Given the description of an element on the screen output the (x, y) to click on. 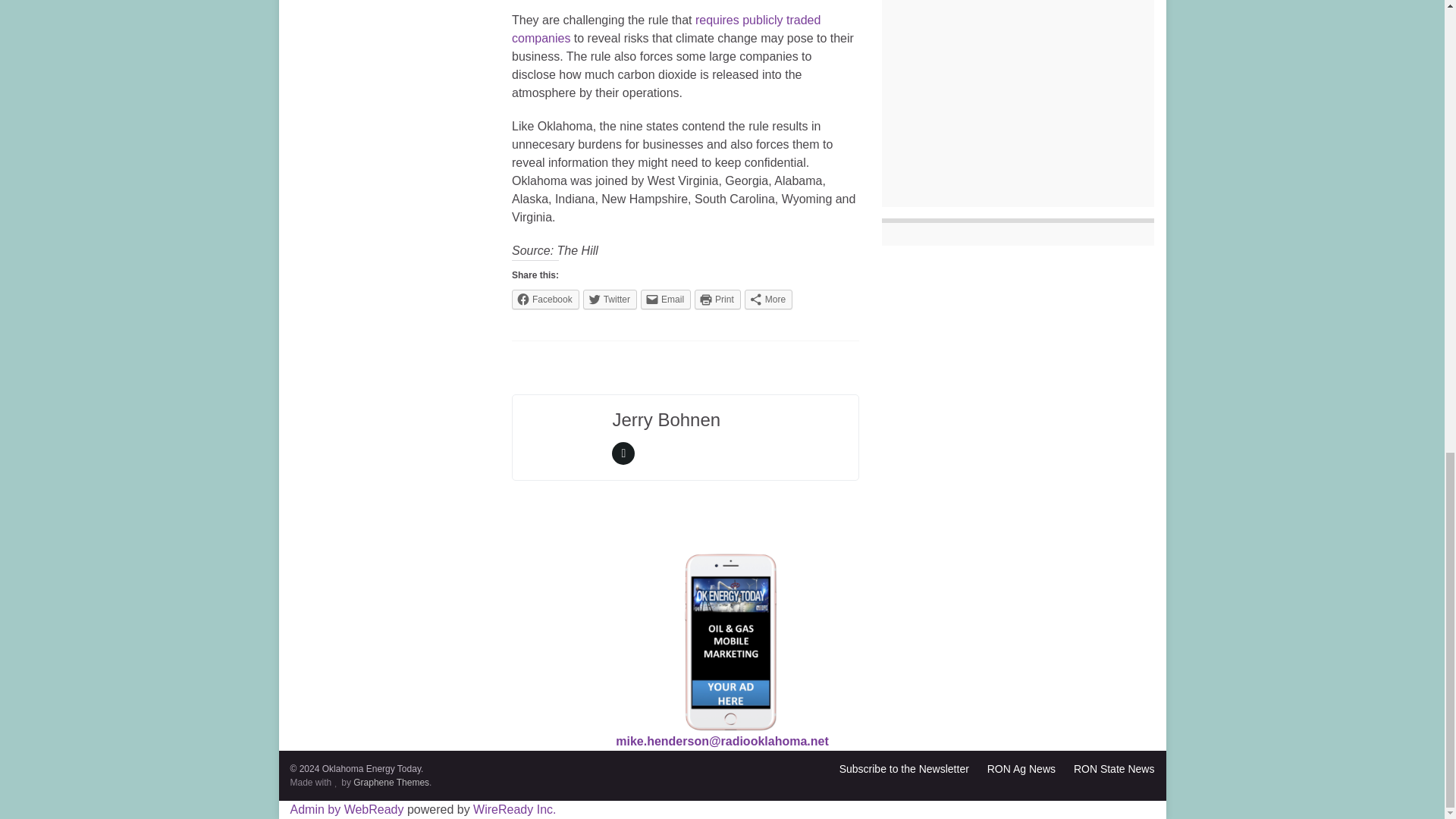
Click to email a link to a friend (665, 299)
Click to share on Twitter (610, 299)
Email (665, 299)
Click to share on Facebook (545, 299)
Print (717, 299)
Click to print (717, 299)
More (768, 299)
Graphene Themes (391, 782)
RON Ag News (1021, 768)
Twitter (610, 299)
